Given the description of an element on the screen output the (x, y) to click on. 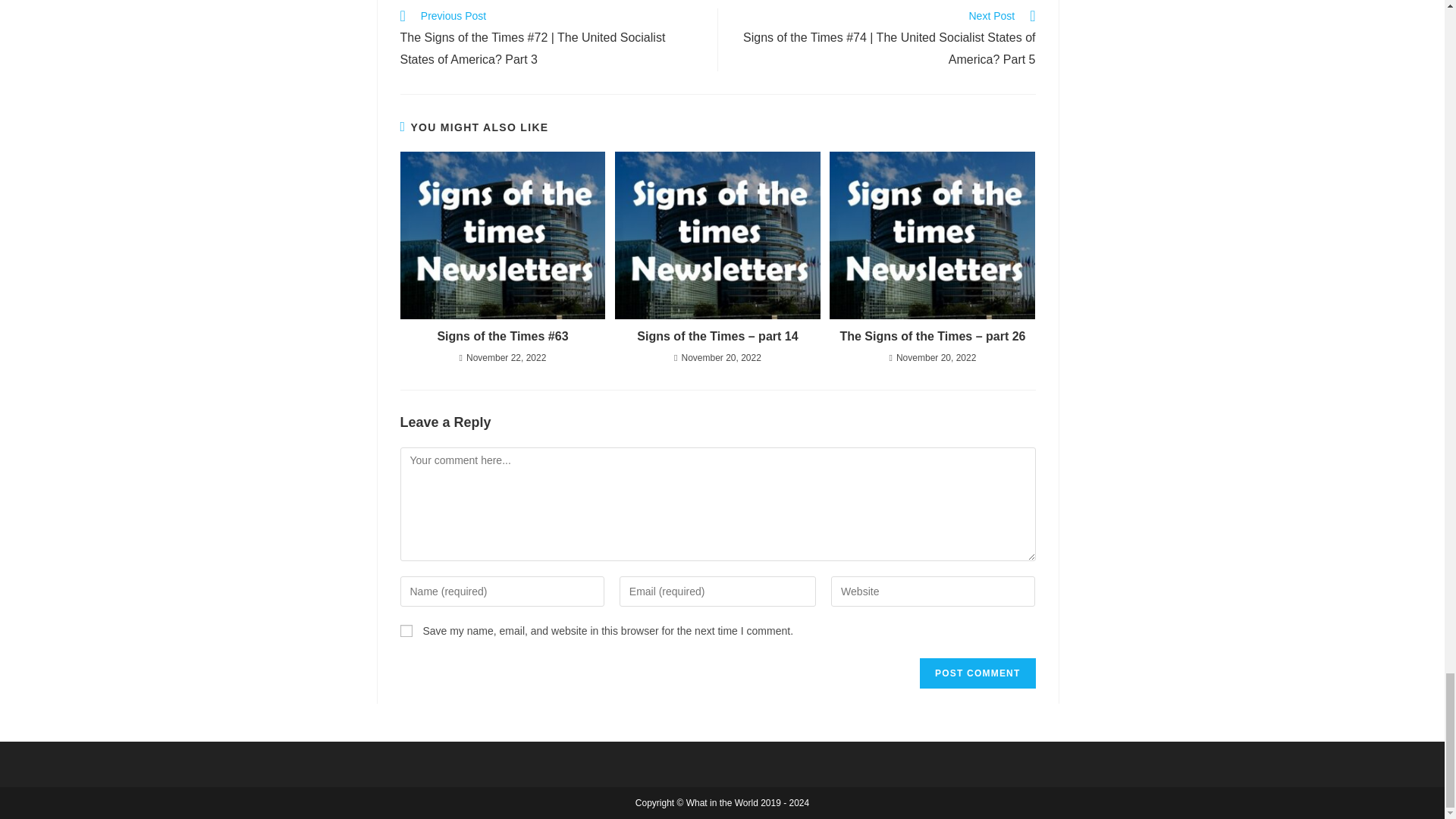
yes (406, 630)
Post Comment (977, 673)
